Given the description of an element on the screen output the (x, y) to click on. 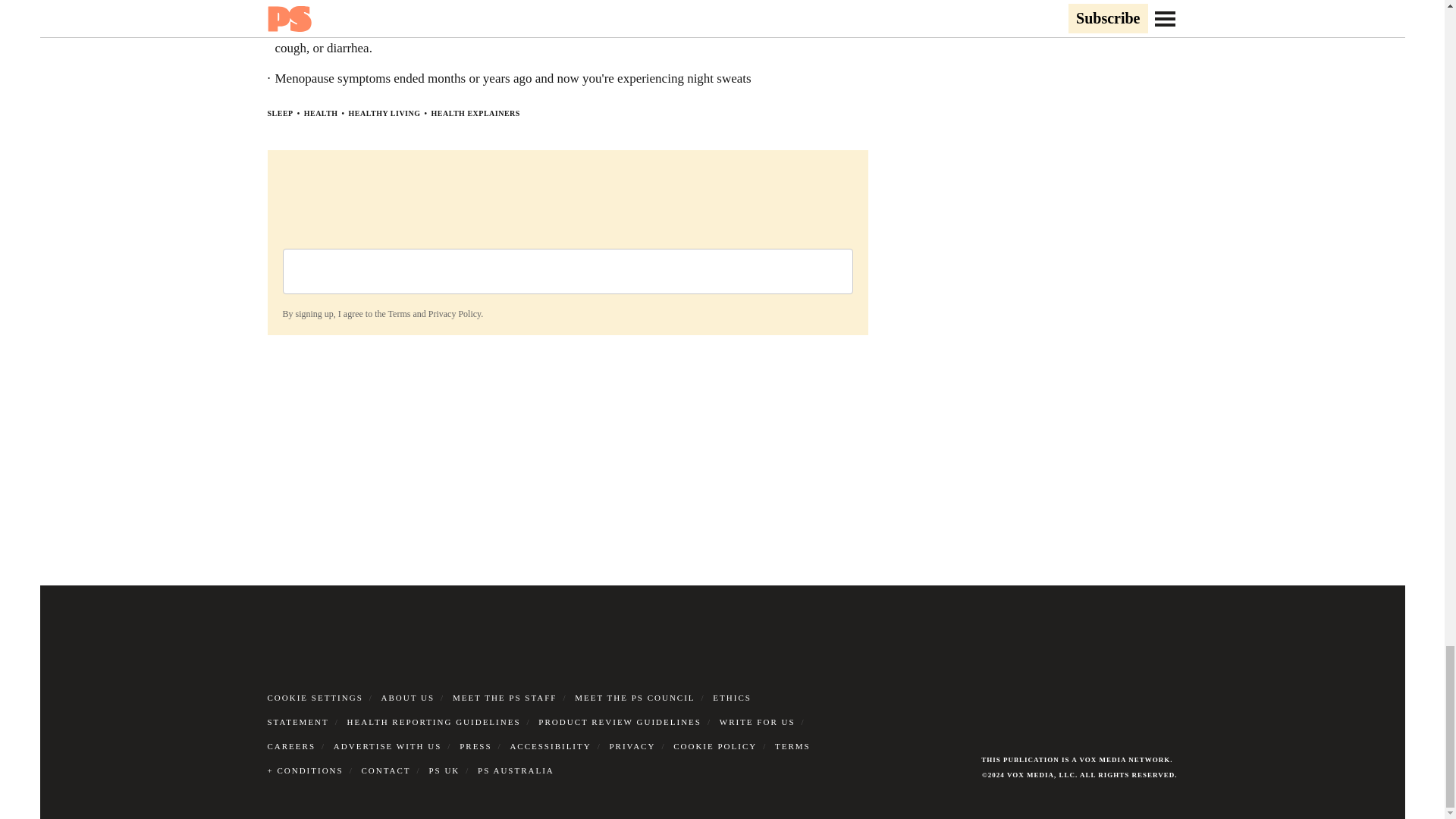
Terms (399, 313)
SLEEP (279, 112)
HEALTH (320, 112)
HEALTHY LIVING (384, 112)
HEALTH EXPLAINERS (474, 112)
Privacy Policy. (455, 313)
